Given the description of an element on the screen output the (x, y) to click on. 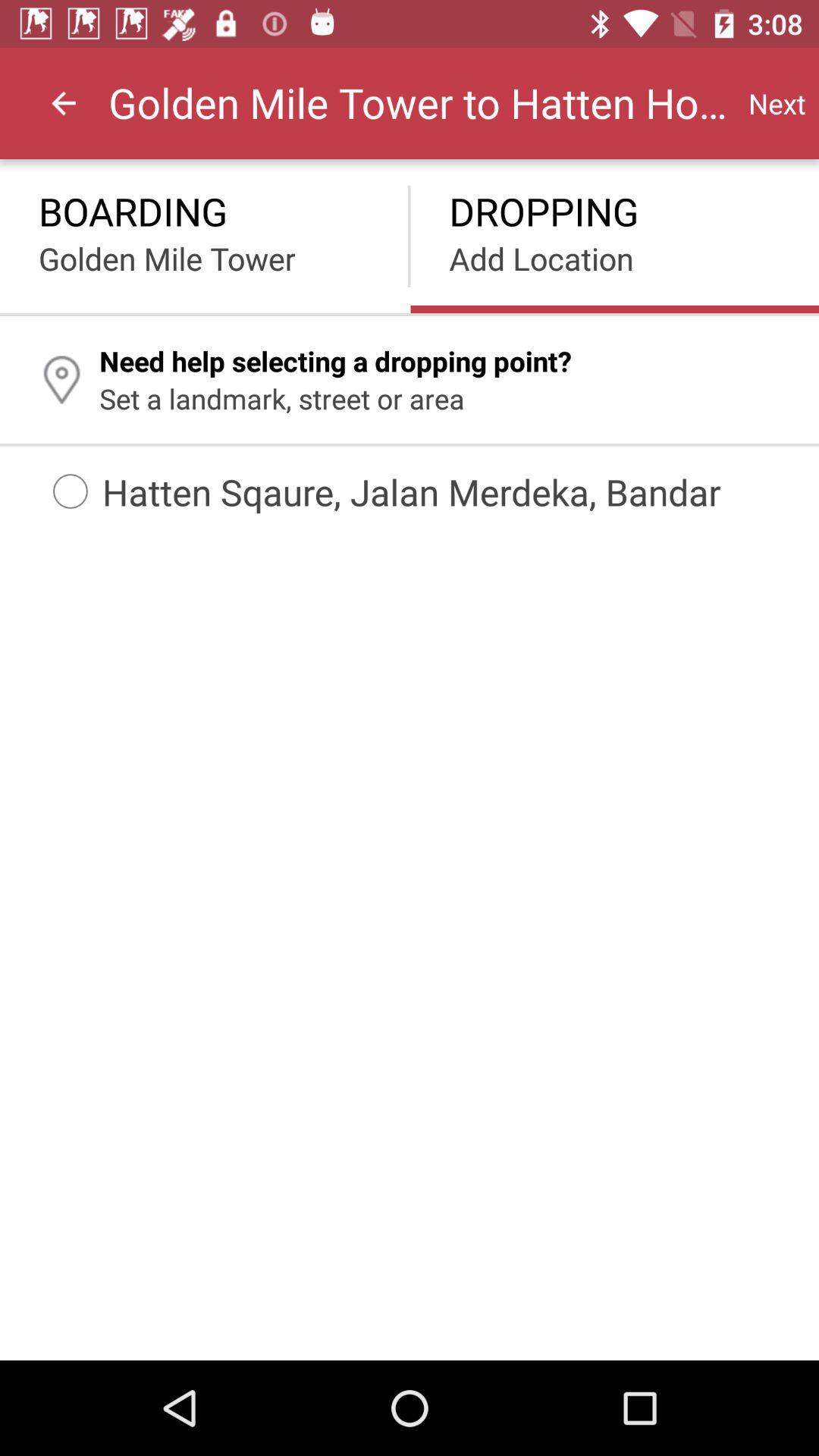
flip to next icon (777, 103)
